Given the description of an element on the screen output the (x, y) to click on. 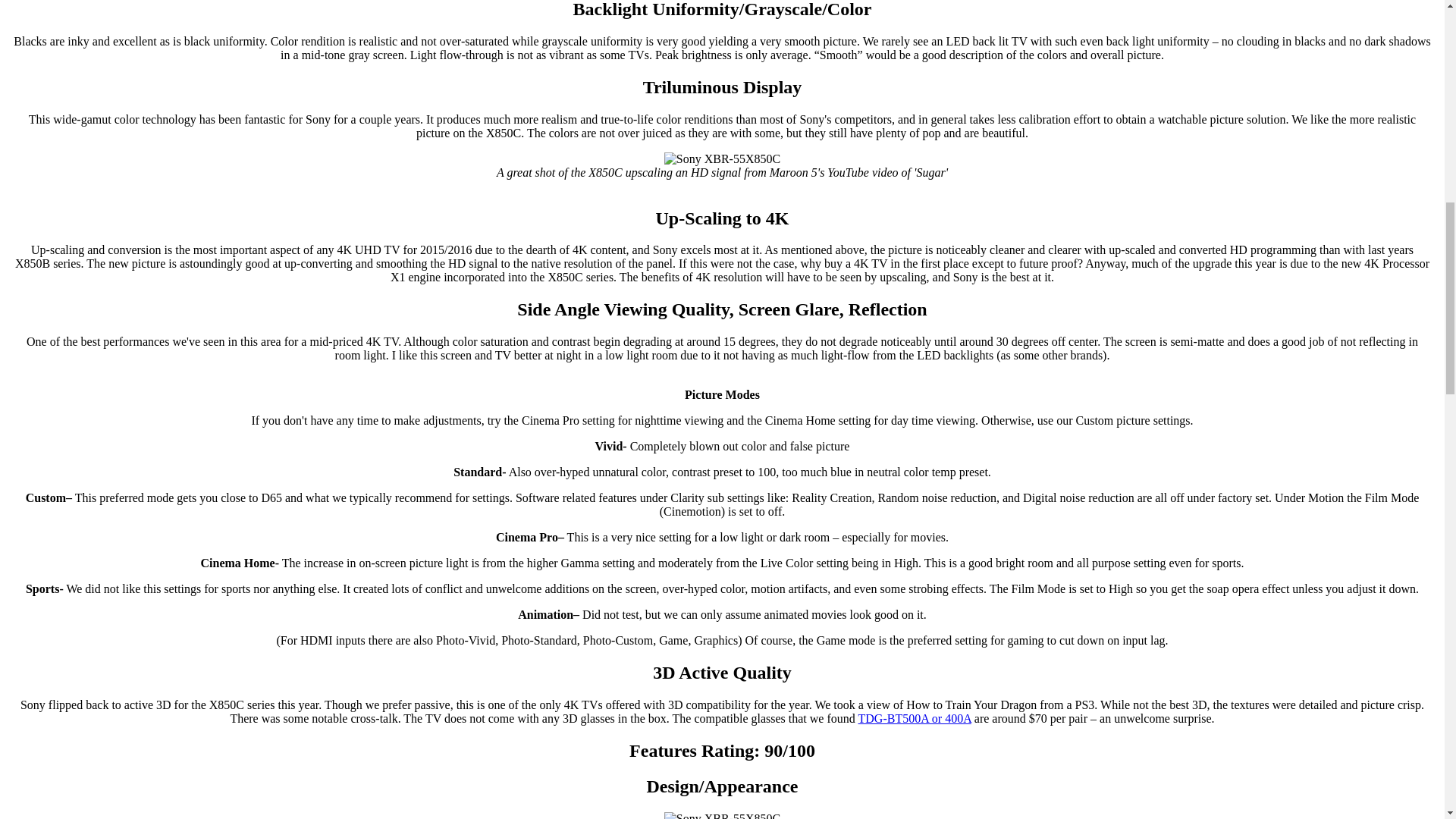
TDG-BT500A or 400A (915, 717)
